Given the description of an element on the screen output the (x, y) to click on. 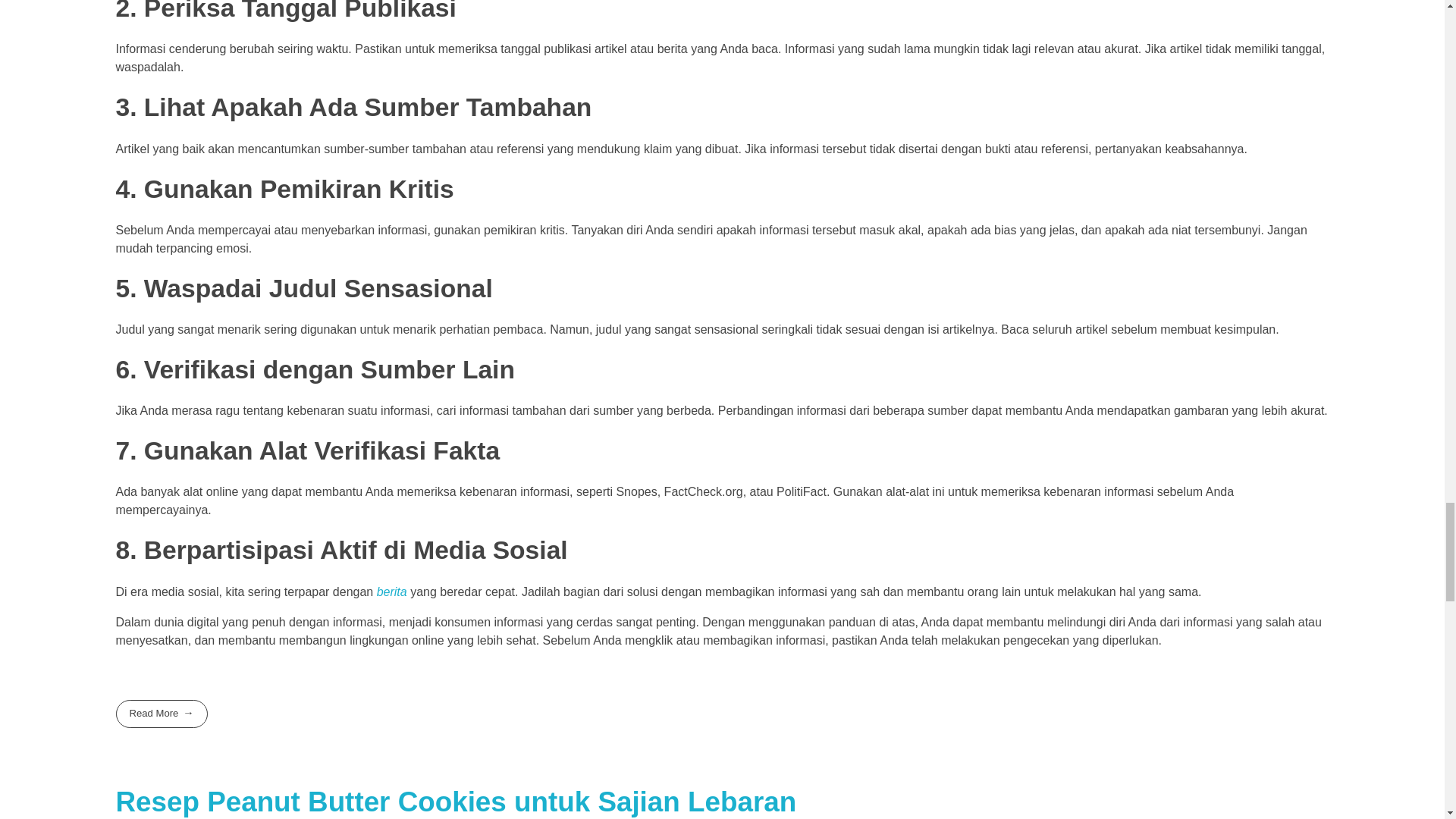
Read More (160, 714)
Resep Peanut Butter Cookies untuk Sajian Lebaran (455, 801)
berita (392, 591)
